Given the description of an element on the screen output the (x, y) to click on. 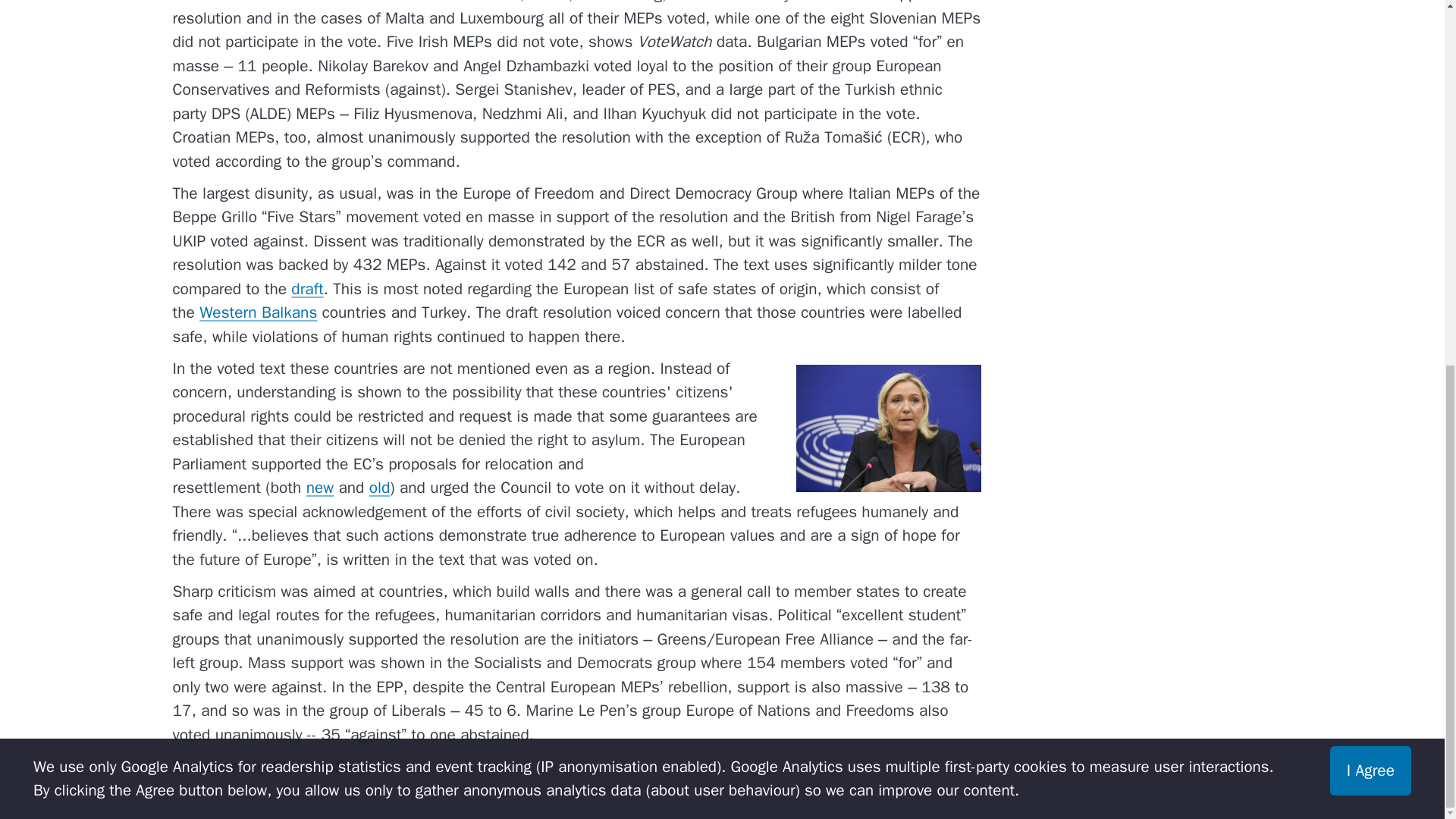
draft (307, 288)
Western Balkans (258, 312)
old (379, 487)
new (319, 487)
